Given the description of an element on the screen output the (x, y) to click on. 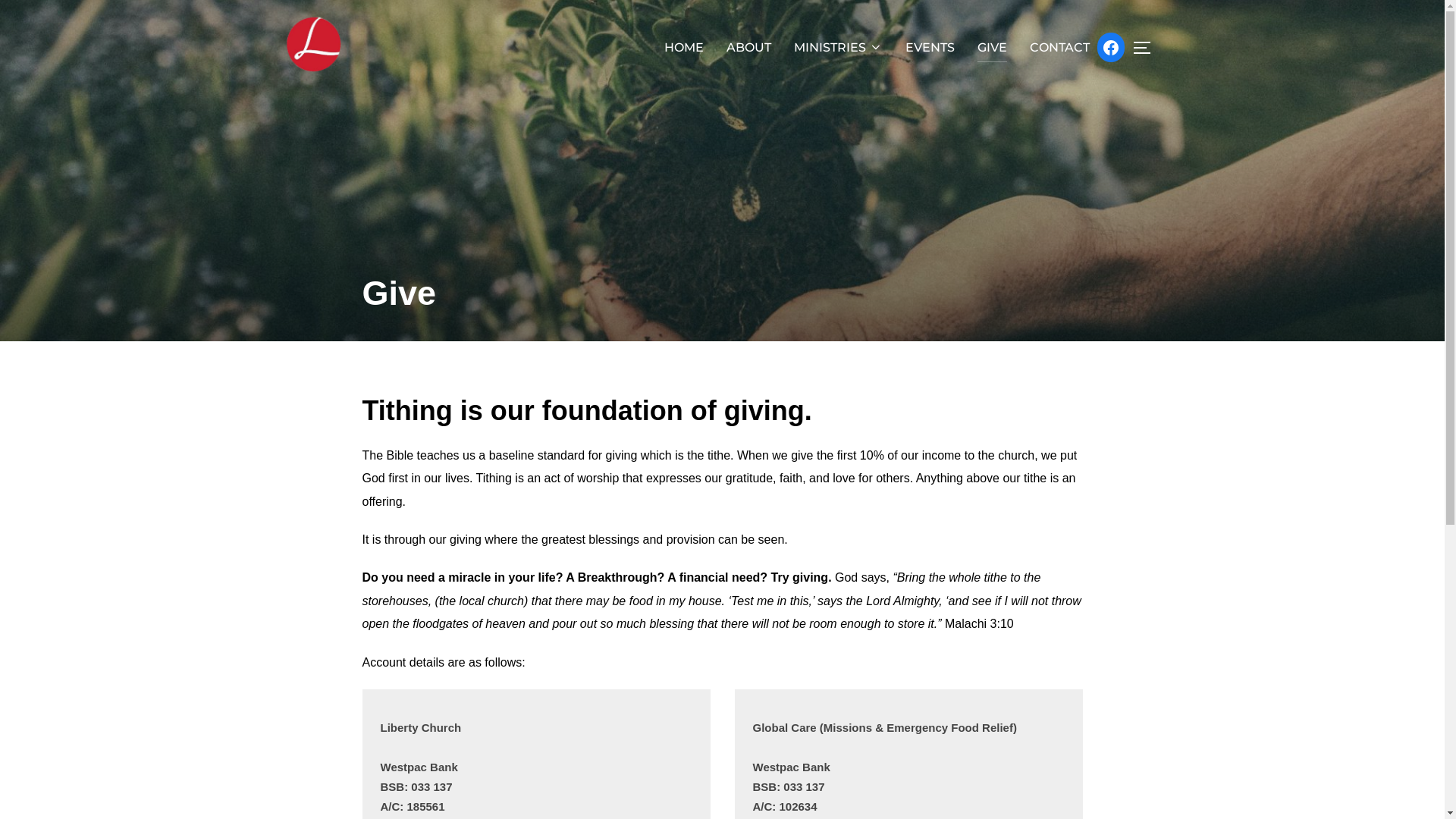
ABOUT Element type: text (748, 47)
GIVE Element type: text (991, 47)
EVENTS Element type: text (929, 47)
Facebook Element type: text (1109, 47)
MINISTRIES Element type: text (837, 47)
HOME Element type: text (683, 47)
TOGGLE SIDEBAR & NAVIGATION Element type: text (1146, 47)
CONTACT Element type: text (1059, 47)
